Given the description of an element on the screen output the (x, y) to click on. 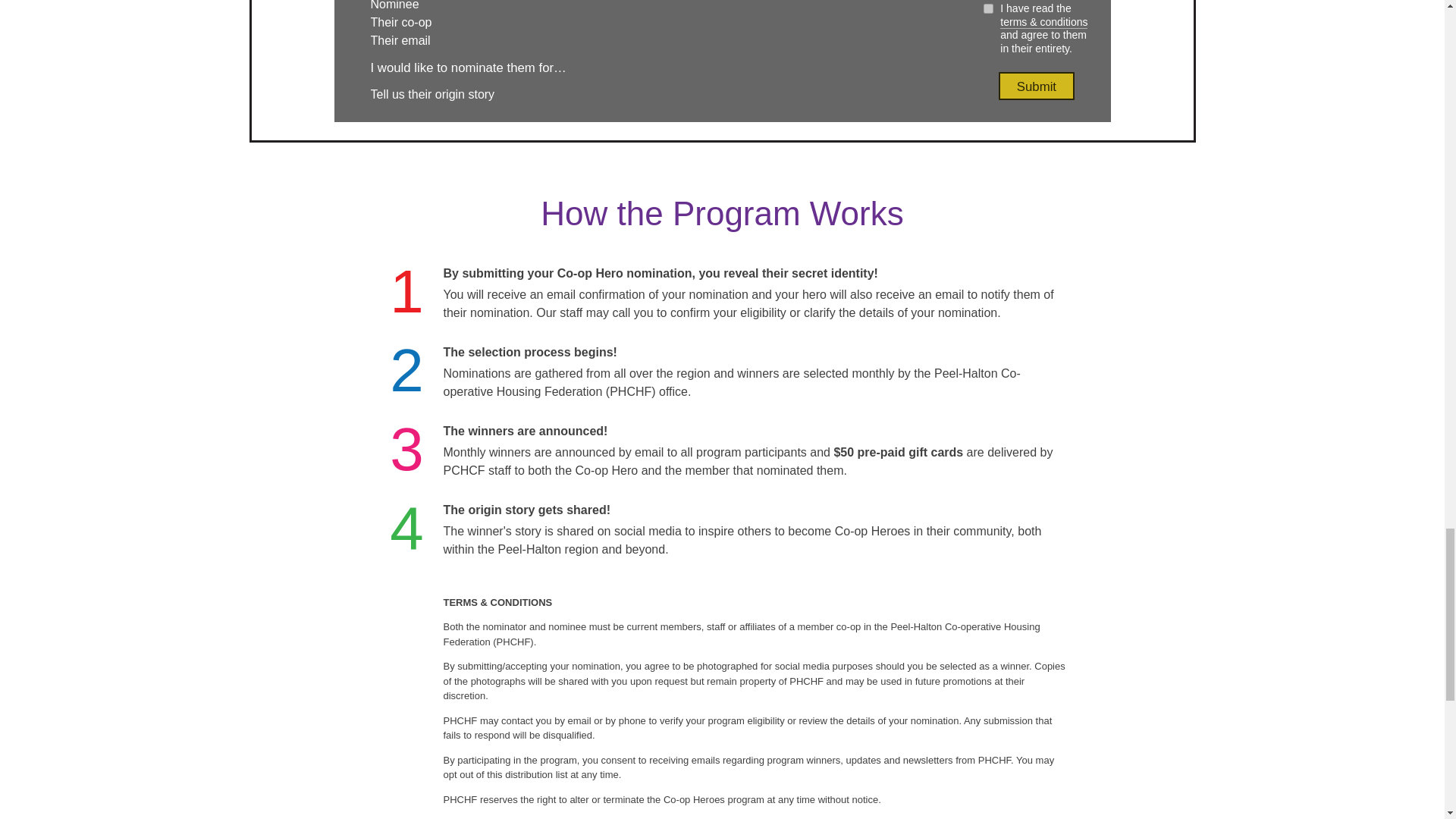
 Submit  (1036, 86)
confirm (987, 8)
 Submit  (1036, 86)
